Given the description of an element on the screen output the (x, y) to click on. 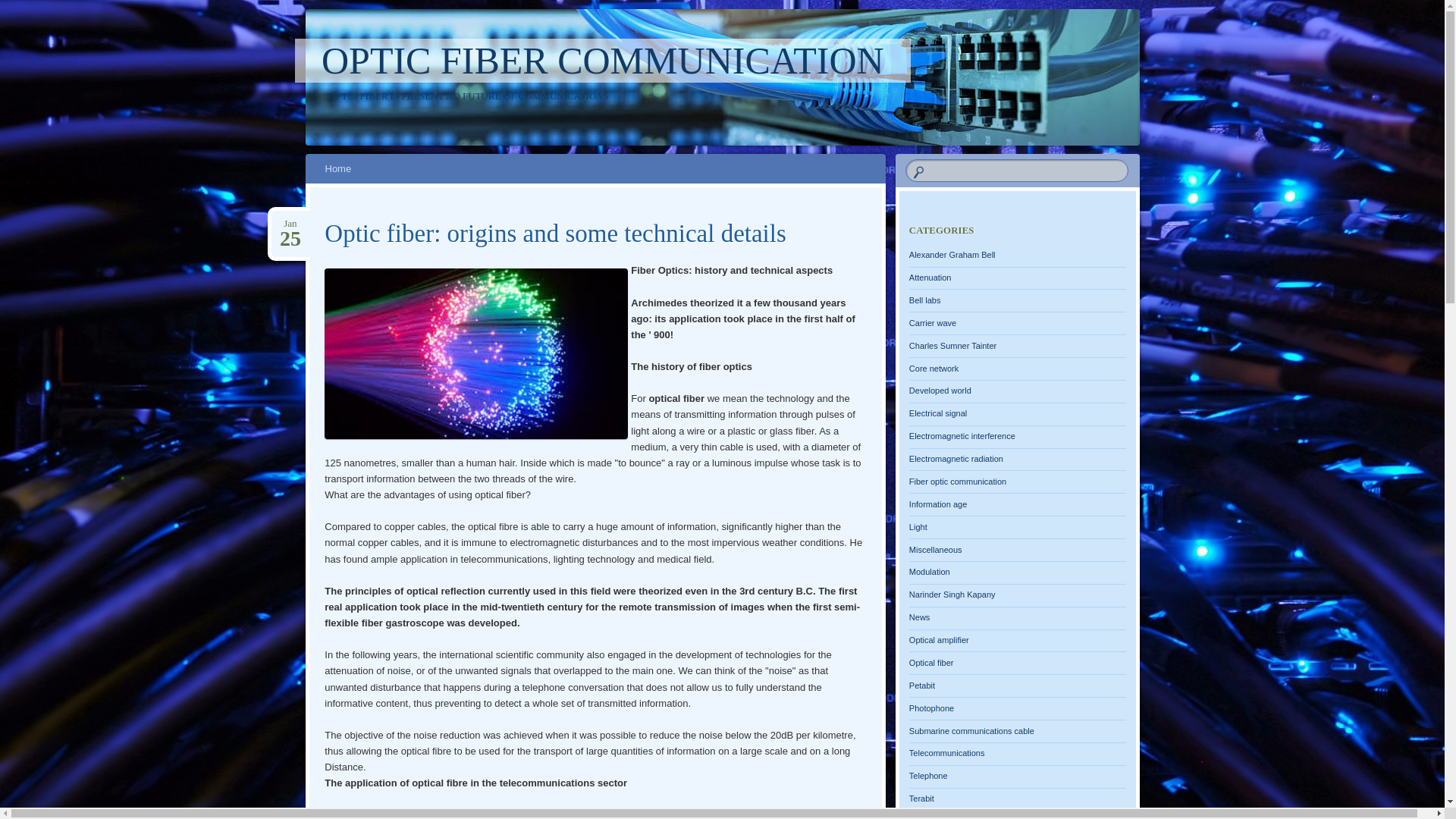
Attenuation Element type: text (930, 277)
Petabit Element type: text (922, 685)
Optic fiber: origins and some technical details Element type: text (555, 233)
Bell labs Element type: text (925, 299)
Electrical signal Element type: text (937, 412)
Carrier wave Element type: text (932, 322)
Alexander Graham Bell Element type: text (952, 254)
Miscellaneous Element type: text (935, 548)
Optical fiber Element type: text (931, 662)
Information age Element type: text (937, 503)
Core network Element type: text (933, 368)
Narinder Singh Kapany Element type: text (952, 594)
Modulation Element type: text (929, 571)
Light Element type: text (918, 526)
Fiber optic communication Element type: text (957, 481)
Telephone Element type: text (928, 775)
Electromagnetic interference Element type: text (962, 435)
Optical amplifier Element type: text (939, 639)
Charles Sumner Tainter Element type: text (952, 345)
OPTIC FIBER COMMUNICATION Element type: text (602, 60)
Jan
25 Element type: text (290, 223)
Submarine communications cable Element type: text (971, 730)
Developed world Element type: text (940, 390)
Photophone Element type: text (931, 707)
Telecommunications Element type: text (947, 752)
News Element type: text (919, 616)
Terabit Element type: text (921, 798)
Search Element type: text (21, 7)
Skip to content Element type: text (346, 168)
Home Element type: text (338, 168)
Electromagnetic radiation Element type: text (956, 458)
